Given the description of an element on the screen output the (x, y) to click on. 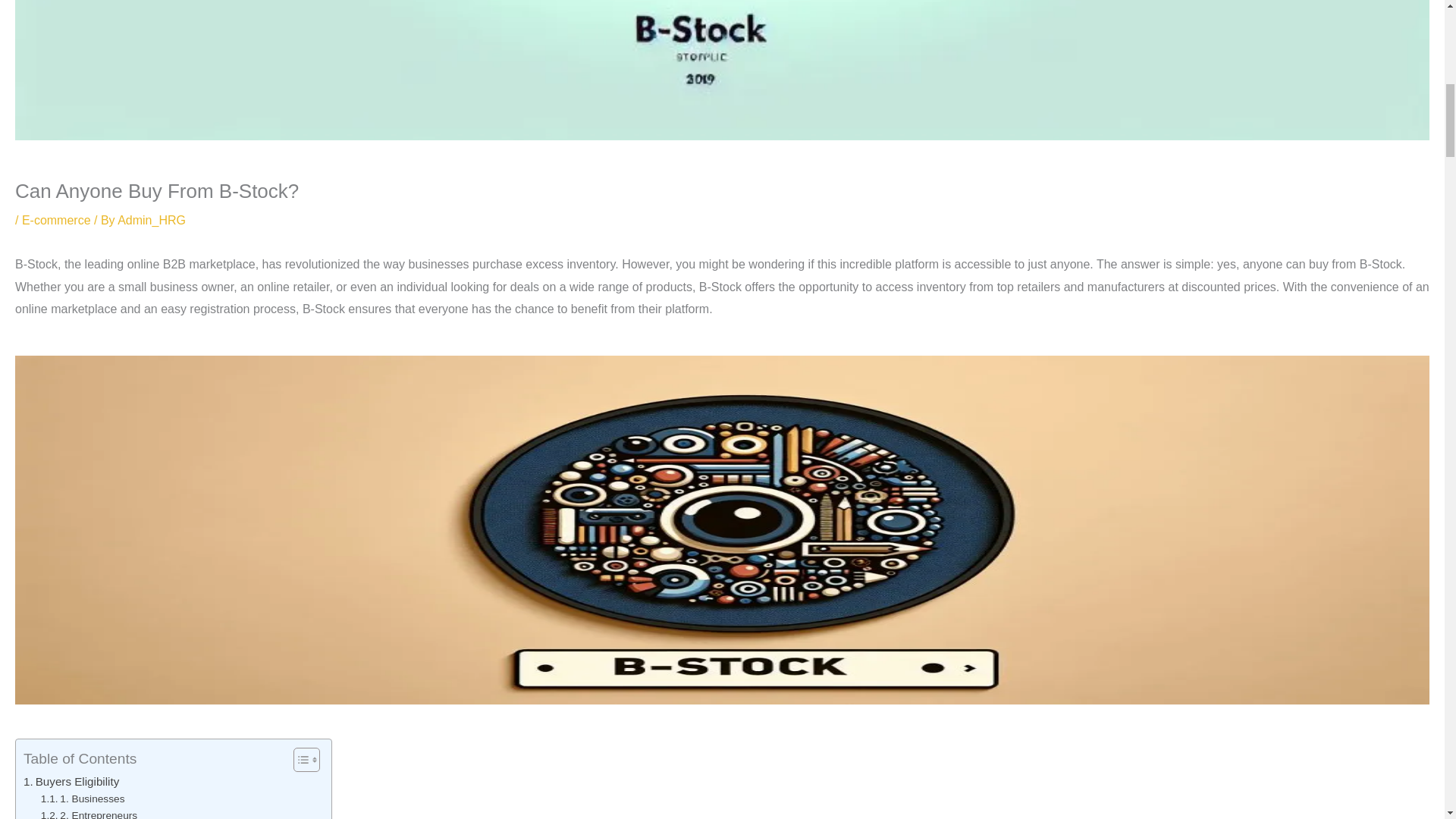
2. Entrepreneurs (88, 813)
1. Businesses (82, 799)
Buyers Eligibility (71, 782)
